Given the description of an element on the screen output the (x, y) to click on. 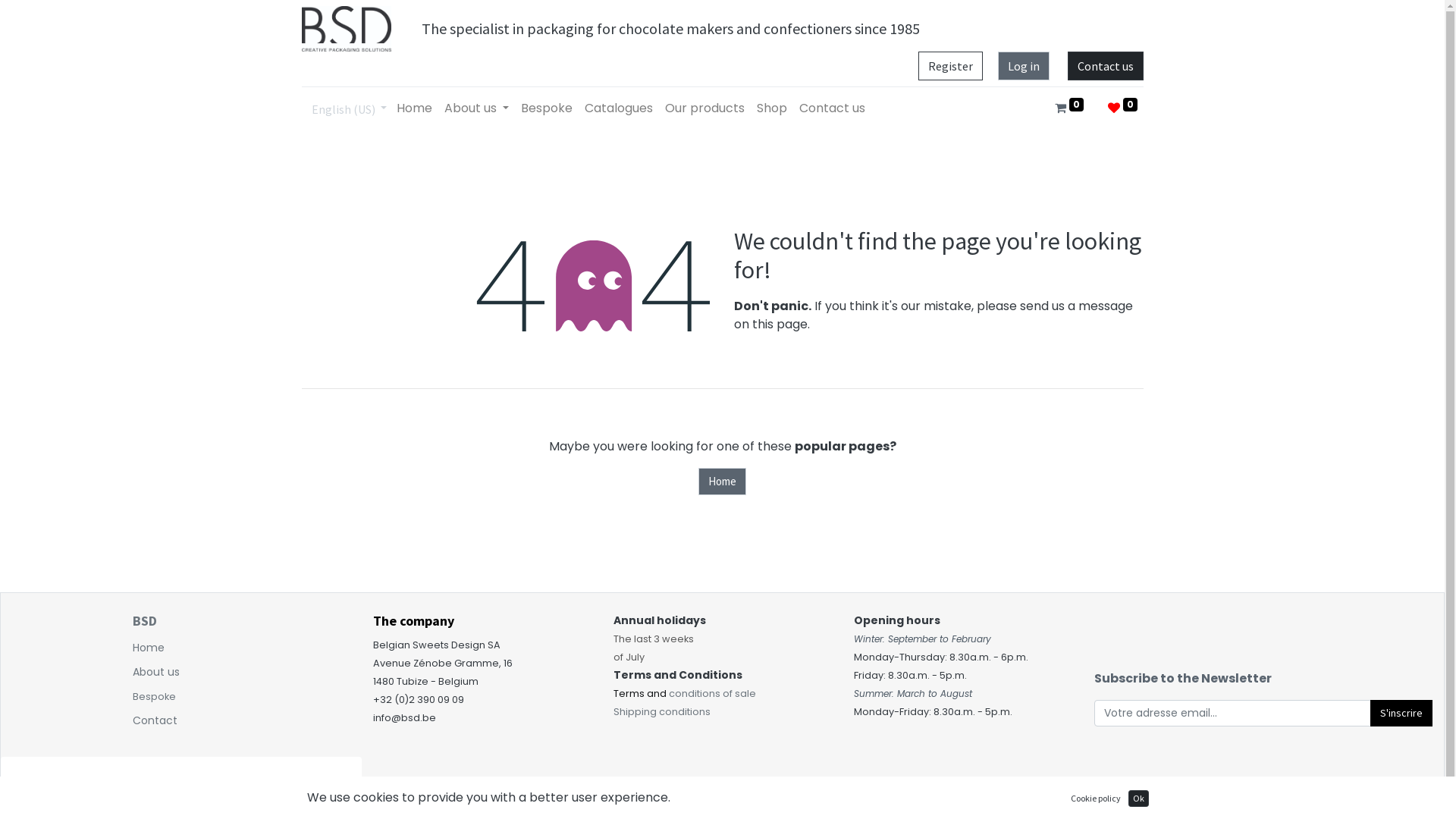
About us Element type: text (155, 671)
Bespoke Element type: text (153, 696)
Catalogues Element type: text (618, 108)
Home Element type: text (148, 646)
English (US) Element type: text (348, 108)
Bespoke Element type: text (546, 108)
Log in Element type: text (1023, 65)
0 Element type: text (1122, 108)
Cookie policy Element type: text (1095, 798)
Contact us Element type: text (1105, 65)
this page Element type: text (779, 323)
About us Element type: text (476, 108)
Shop Element type: text (771, 108)
Terms and Element type: text (640, 693)
0 Element type: text (1068, 108)
Our products Element type: text (704, 108)
My Website Element type: hover (346, 28)
Shipping conditions Element type: text (661, 711)
Contact us Element type: text (832, 108)
Contact Element type: text (154, 719)
S'inscrire Element type: text (1401, 712)
conditions of sale Element type: text (712, 693)
Home Element type: text (414, 108)
Ok Element type: text (1138, 798)
Home Element type: text (722, 481)
BSD Element type: text (144, 620)
Register Element type: text (949, 65)
